Given the description of an element on the screen output the (x, y) to click on. 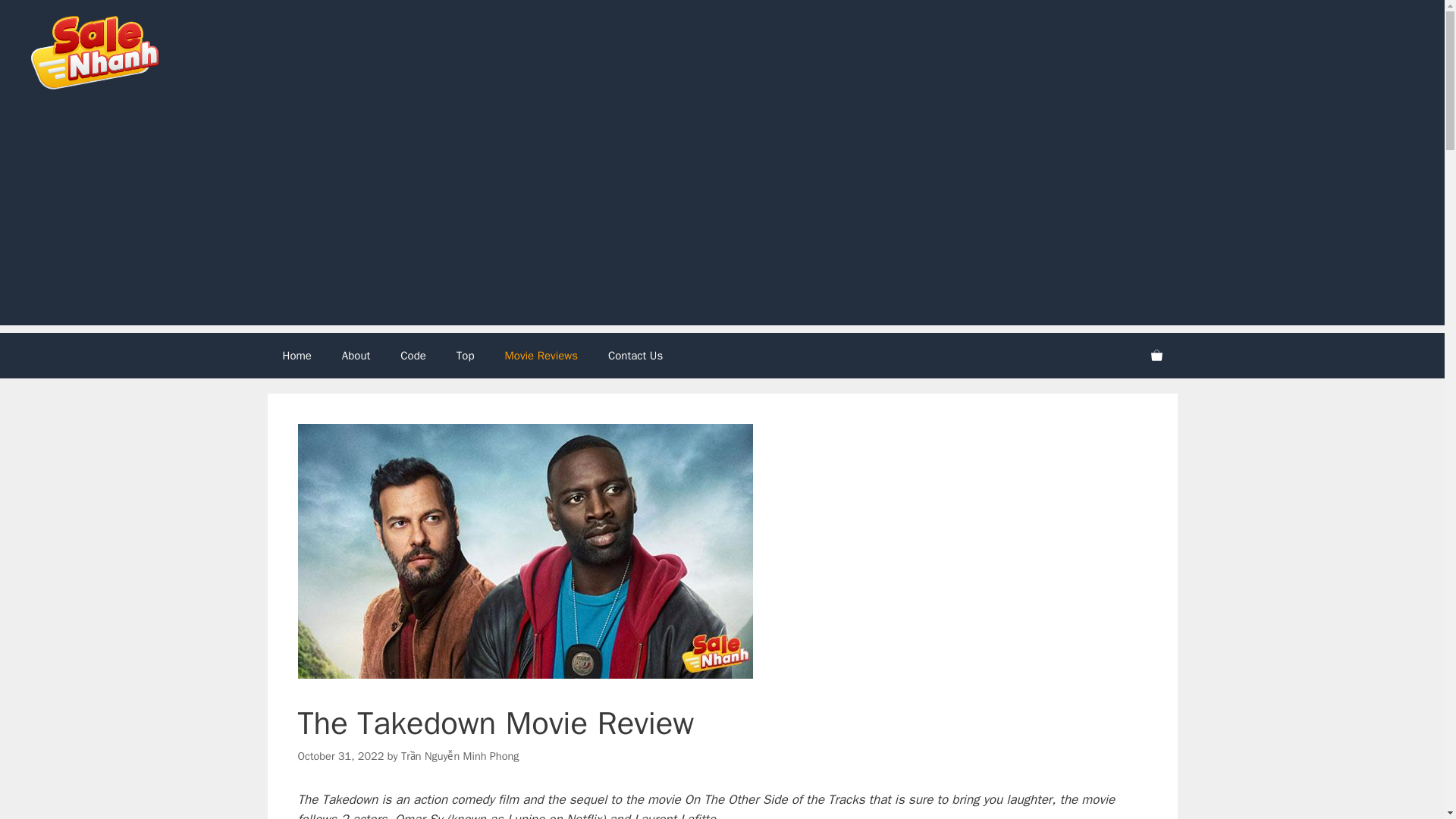
Home (296, 355)
View your shopping cart (1156, 355)
Code (413, 355)
Top (465, 355)
About (355, 355)
Movie Reviews (540, 355)
Contact Us (635, 355)
